Given the description of an element on the screen output the (x, y) to click on. 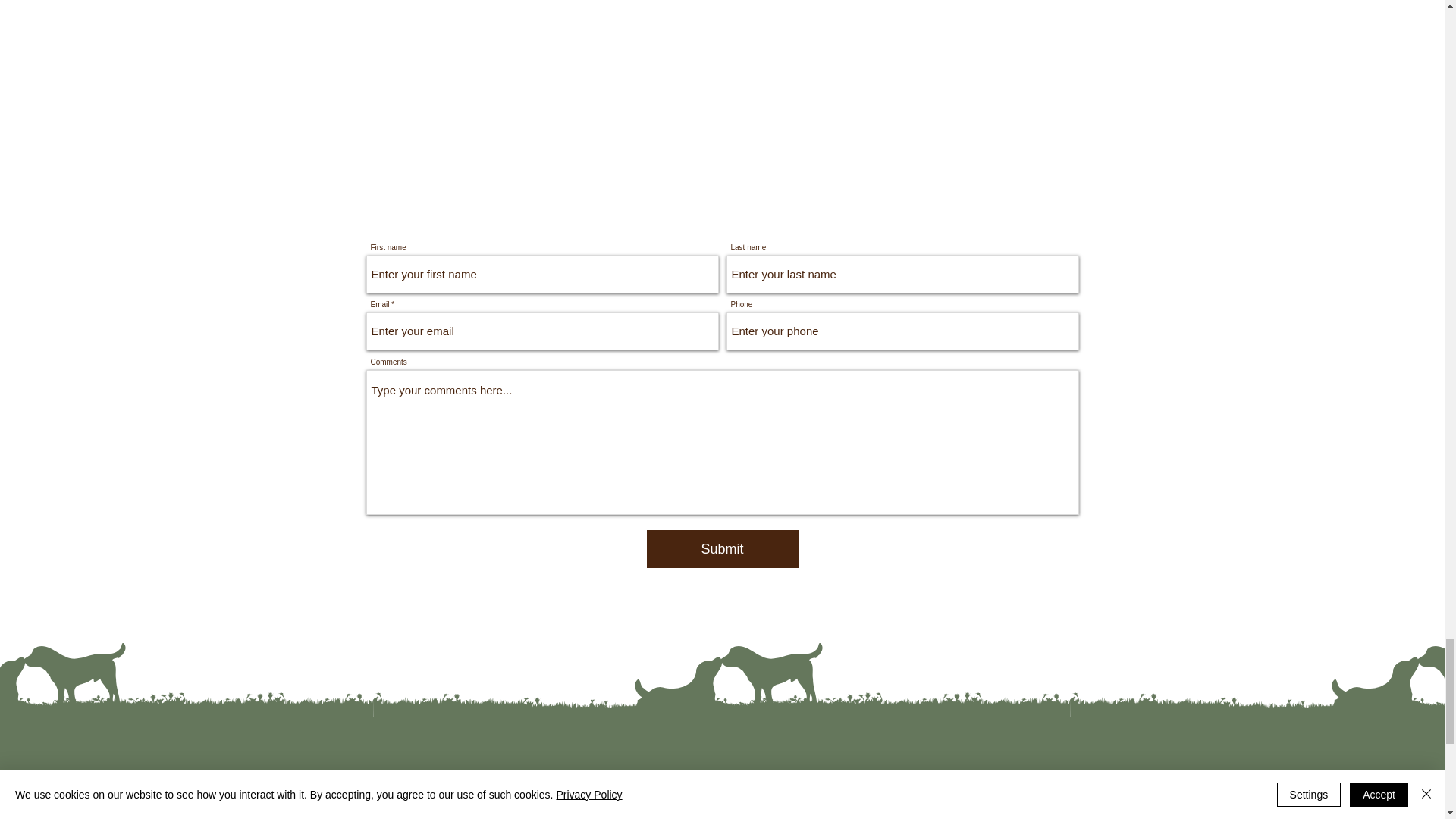
Submit (721, 548)
